Given the description of an element on the screen output the (x, y) to click on. 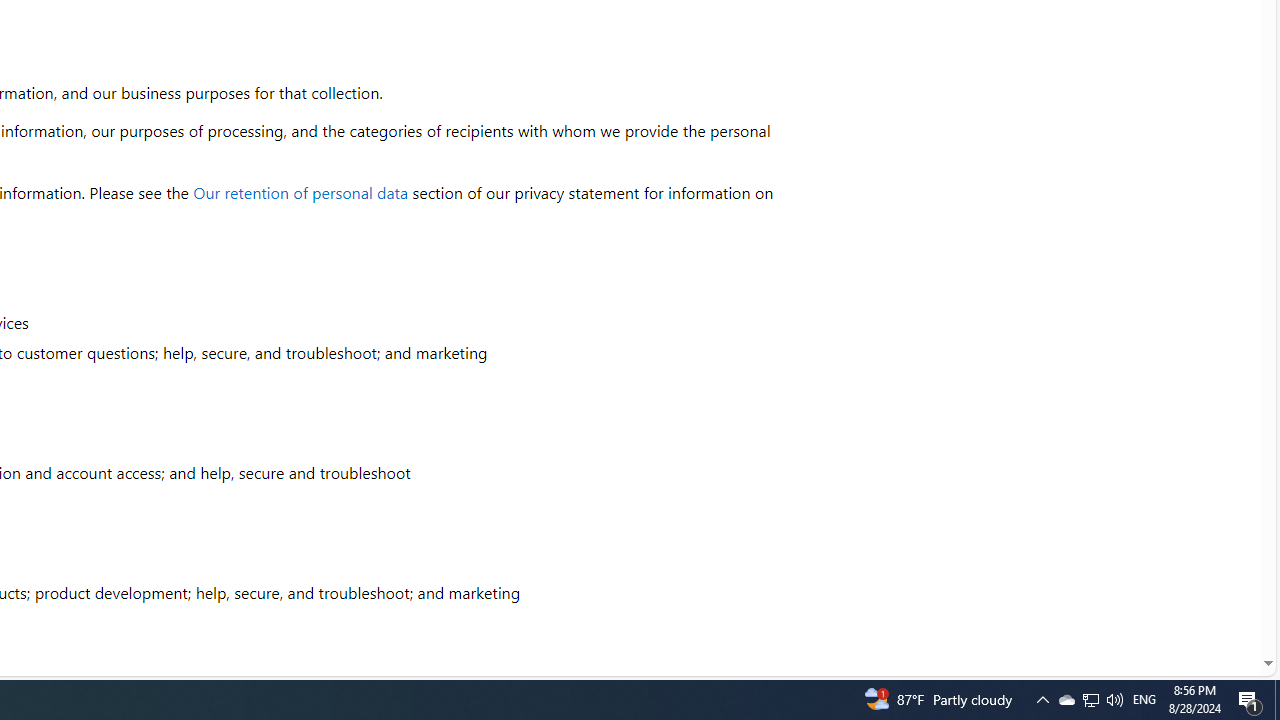
Our retention of personal data (301, 192)
